Given the description of an element on the screen output the (x, y) to click on. 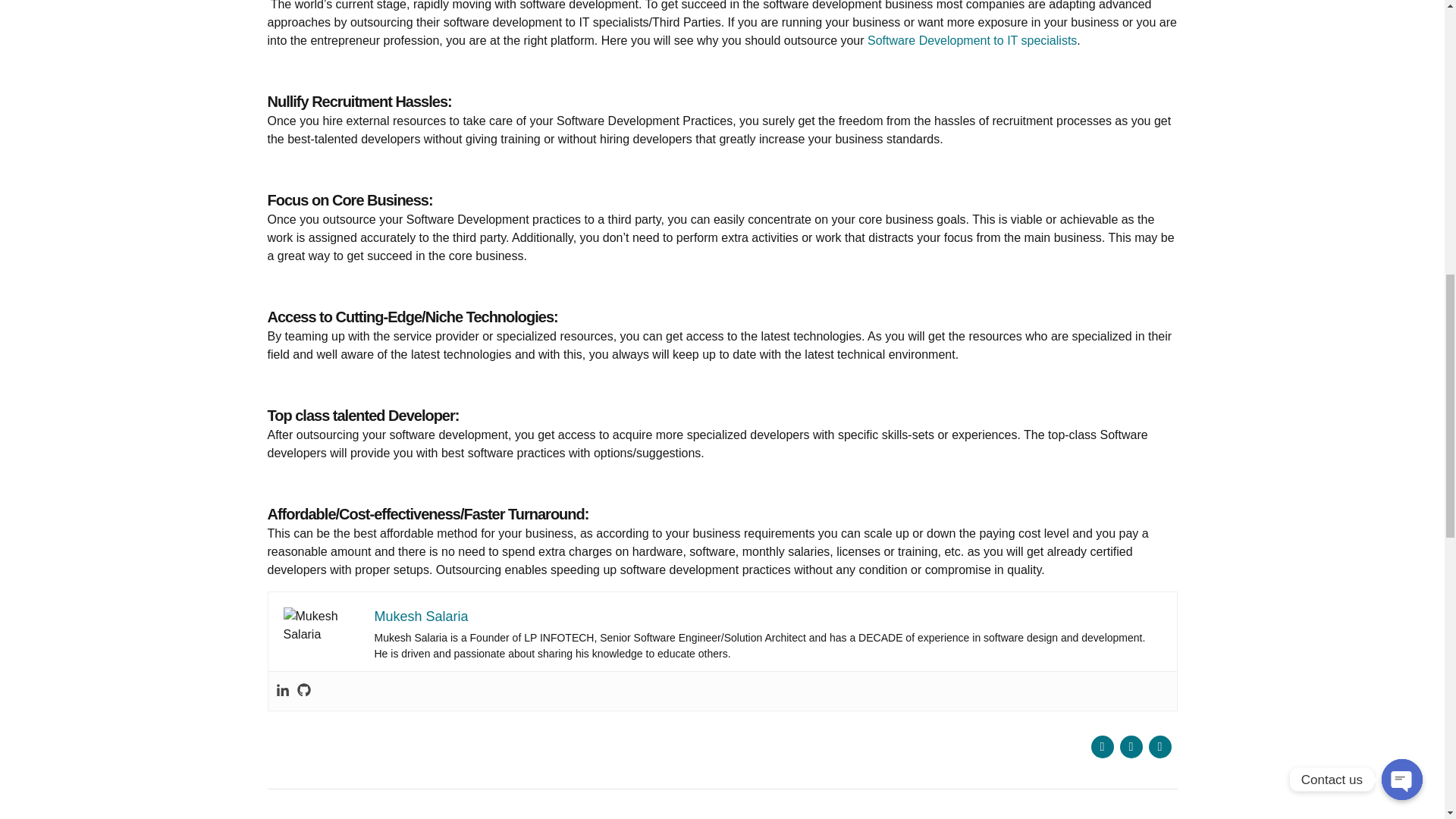
Share on Facebook (1101, 746)
Share on Linkedin (1159, 746)
Share on Twitter (1130, 746)
